Given the description of an element on the screen output the (x, y) to click on. 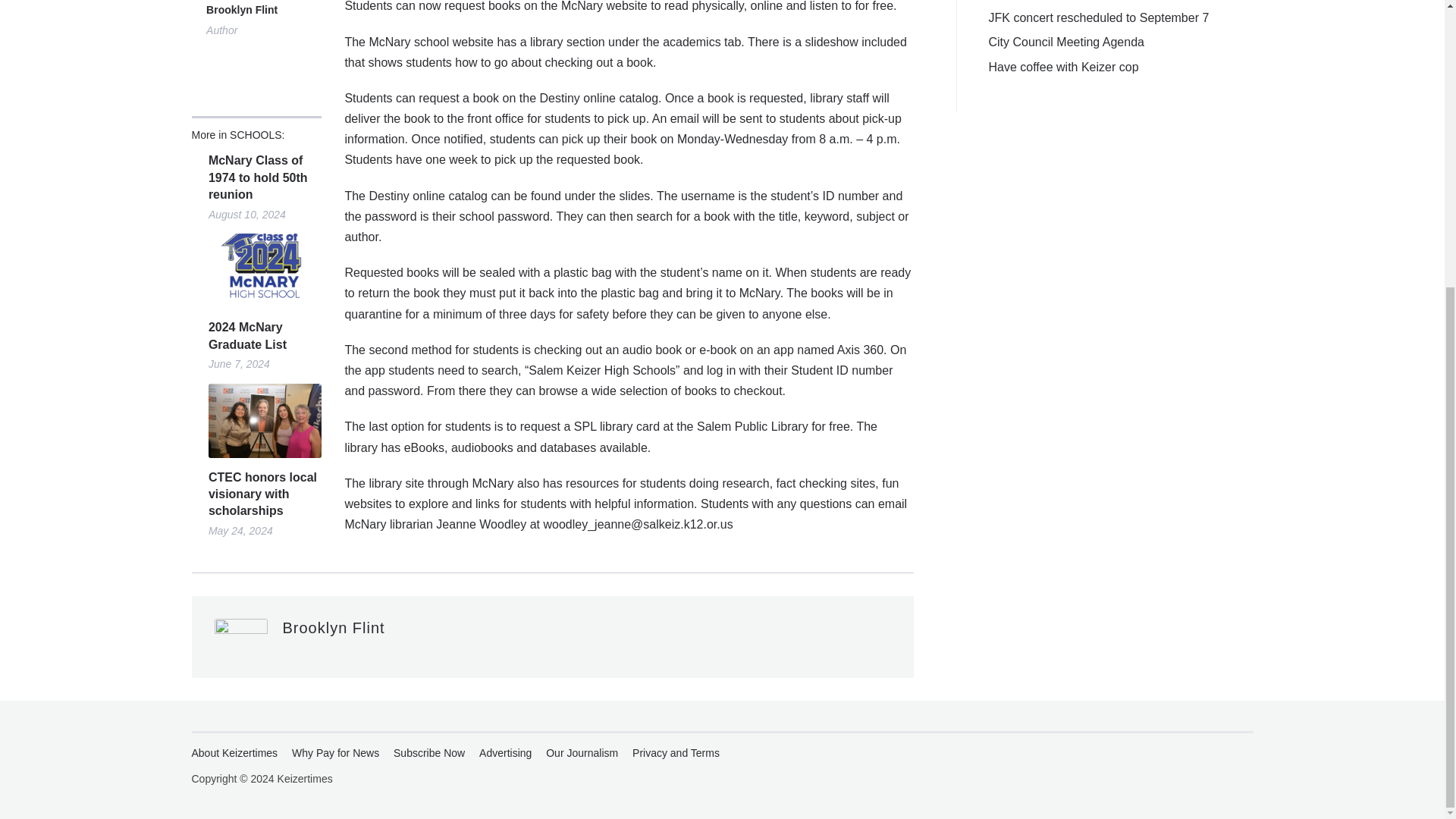
Permalink to CTEC honors local visionary with scholarships (264, 420)
Posts by Brooklyn Flint (242, 11)
Permalink to CTEC honors local visionary with scholarships (264, 494)
Permalink to McNary Class of 1974 to hold 50th reunion (264, 177)
Posts by Brooklyn Flint (333, 627)
Permalink to 2024 McNary Graduate List (264, 335)
Permalink to 2024 McNary Graduate List (264, 270)
